Given the description of an element on the screen output the (x, y) to click on. 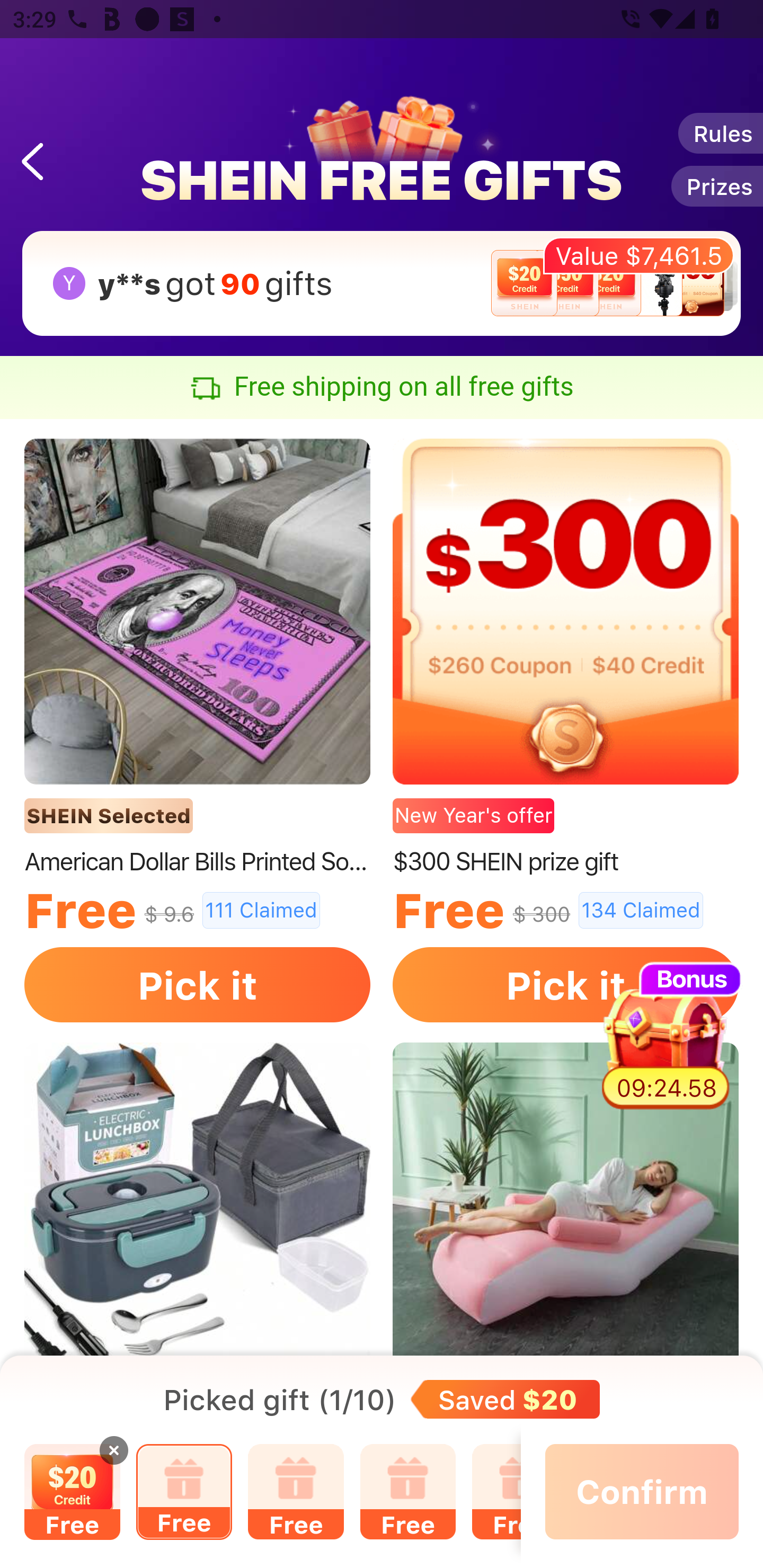
Rules (720, 132)
Prizes (716, 185)
Pick it (196, 984)
Pick it (565, 984)
Bonus 09:24.67 (666, 1036)
Confirm (642, 1491)
